Given the description of an element on the screen output the (x, y) to click on. 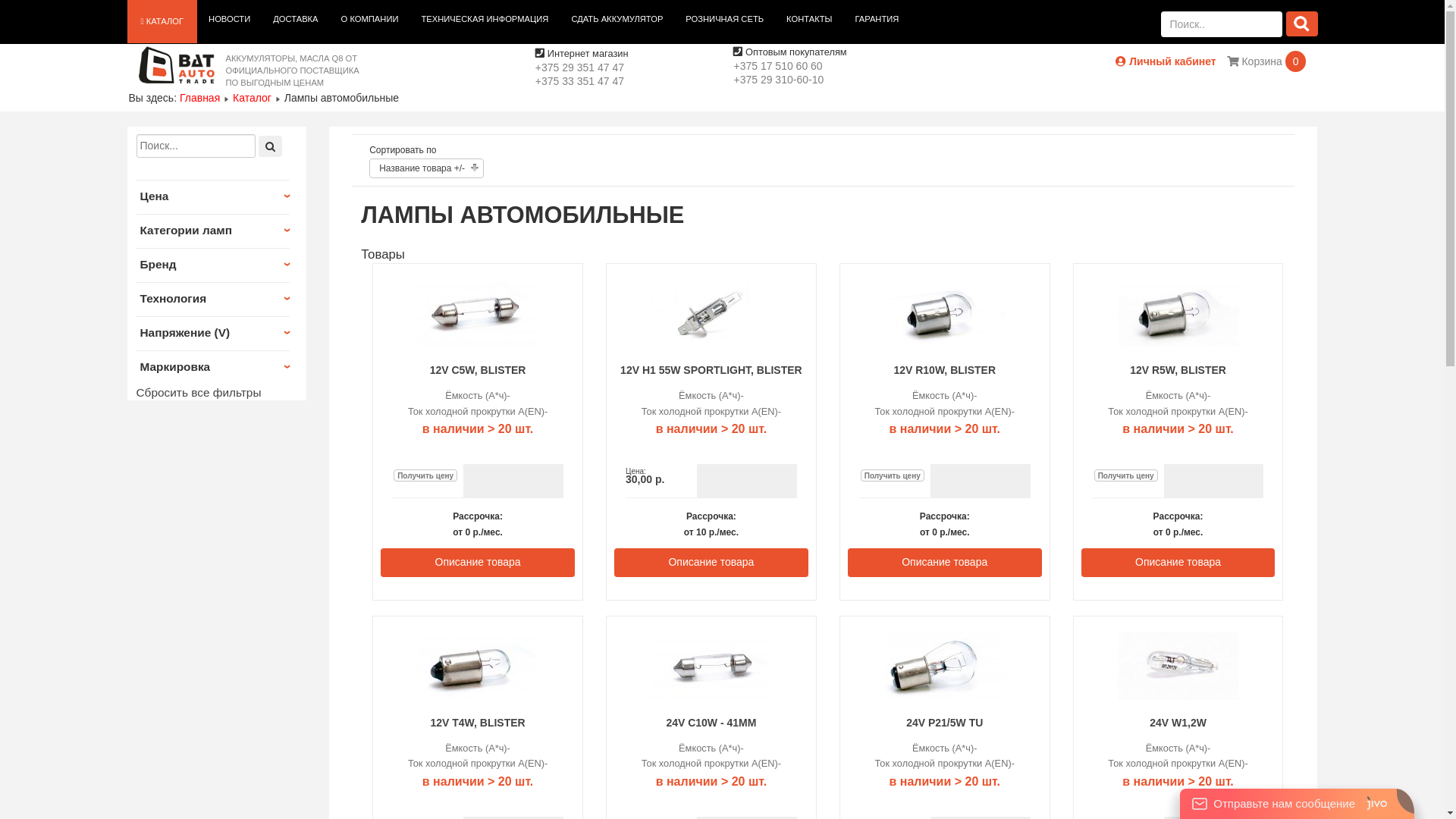
24V W1,2W Element type: hover (1178, 696)
24V P21/5W TU Element type: text (944, 722)
24V P21/5W TU Element type: hover (944, 695)
12V T4W, BLISTER Element type: text (476, 722)
12V C5W, BLISTER Element type: text (477, 370)
+375 33 351 47 47 Element type: text (579, 81)
+375 17 510 60 60 Element type: text (777, 65)
12V C5W, blister Element type: hover (477, 342)
+375 29 351 47 47 Element type: text (579, 67)
24V C10W - 41mm Element type: hover (710, 695)
12V H1 55W SPORTLIGHT, BLISTER Element type: text (711, 370)
12V R5W, blister Element type: hover (1178, 342)
12V R5W, BLISTER Element type: text (1177, 370)
12V R10W, BLISTER Element type: text (944, 370)
24V C10W - 41MM Element type: text (710, 722)
+375 29 310-60-10 Element type: text (778, 79)
24V W1,2W Element type: text (1177, 722)
12V H1 55W Sportlight, blister Element type: hover (710, 343)
12V T4W, blister Element type: hover (477, 695)
12V R10W, blister Element type: hover (944, 343)
